Given the description of an element on the screen output the (x, y) to click on. 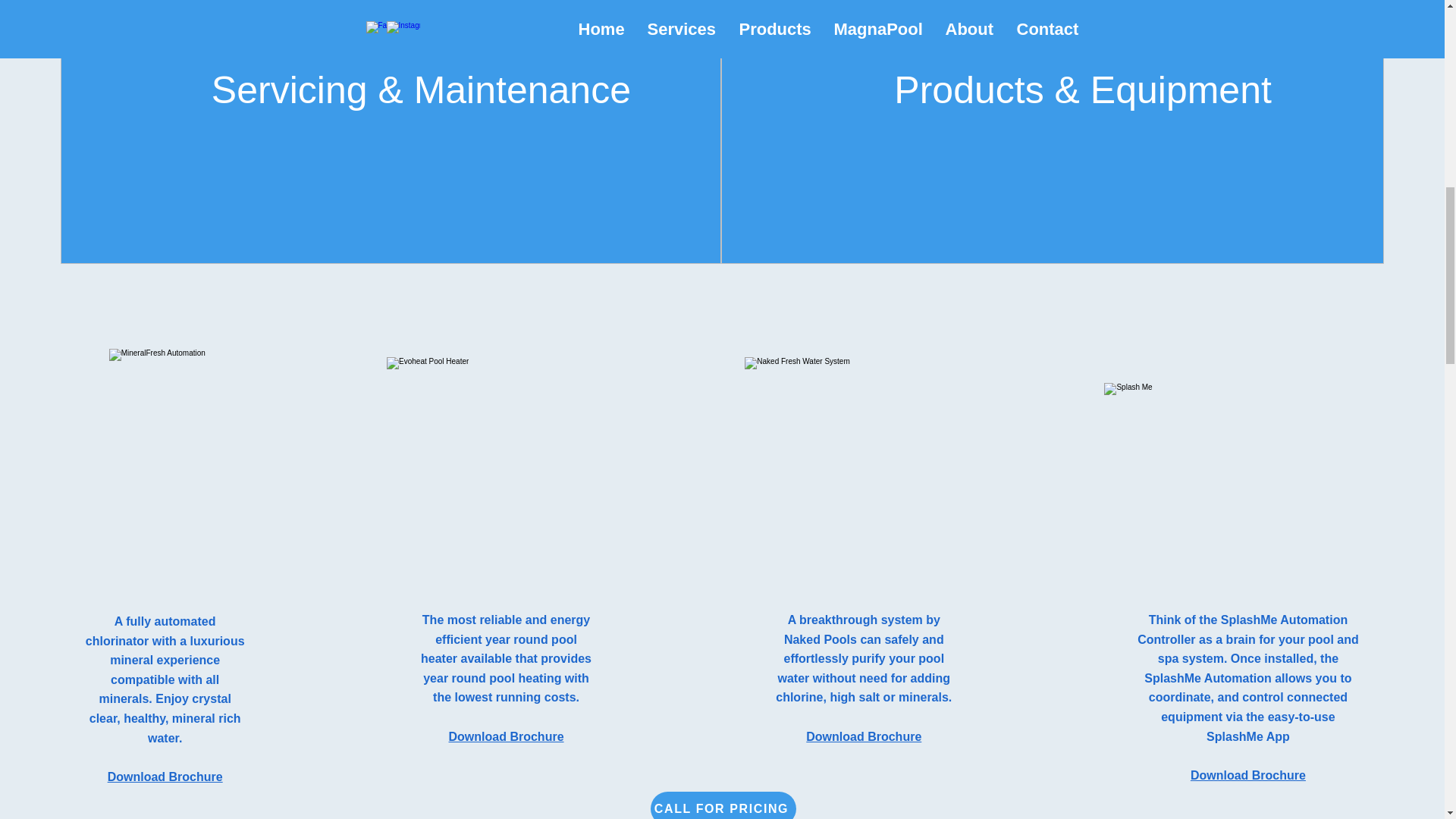
Download Brochure (506, 736)
CALL FOR PRICING (723, 805)
Download Brochure (863, 736)
Download Brochure (1248, 775)
Force-i-Front.png (506, 438)
Download Brochure (164, 776)
